Given the description of an element on the screen output the (x, y) to click on. 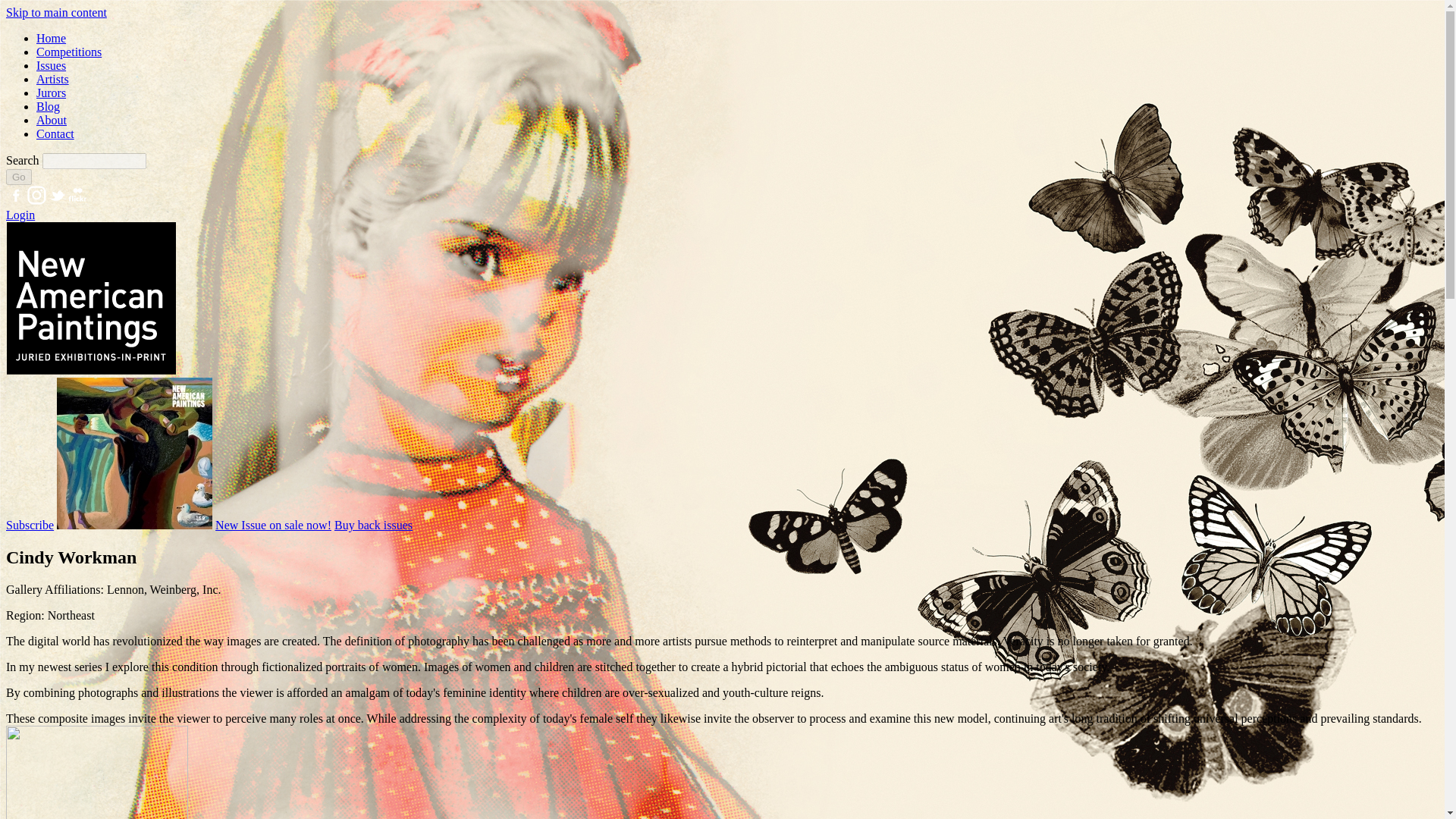
Jurors (50, 92)
Contact (55, 133)
Artists (52, 78)
Home (50, 38)
Buy back issues (373, 524)
Enter the terms you wish to search for. (94, 160)
Jurors (50, 92)
New Issue on sale now! (273, 524)
About (51, 119)
Go (18, 176)
About (51, 119)
Buy back issues (373, 524)
Competitions (68, 51)
Contact (55, 133)
Go (18, 176)
